Given the description of an element on the screen output the (x, y) to click on. 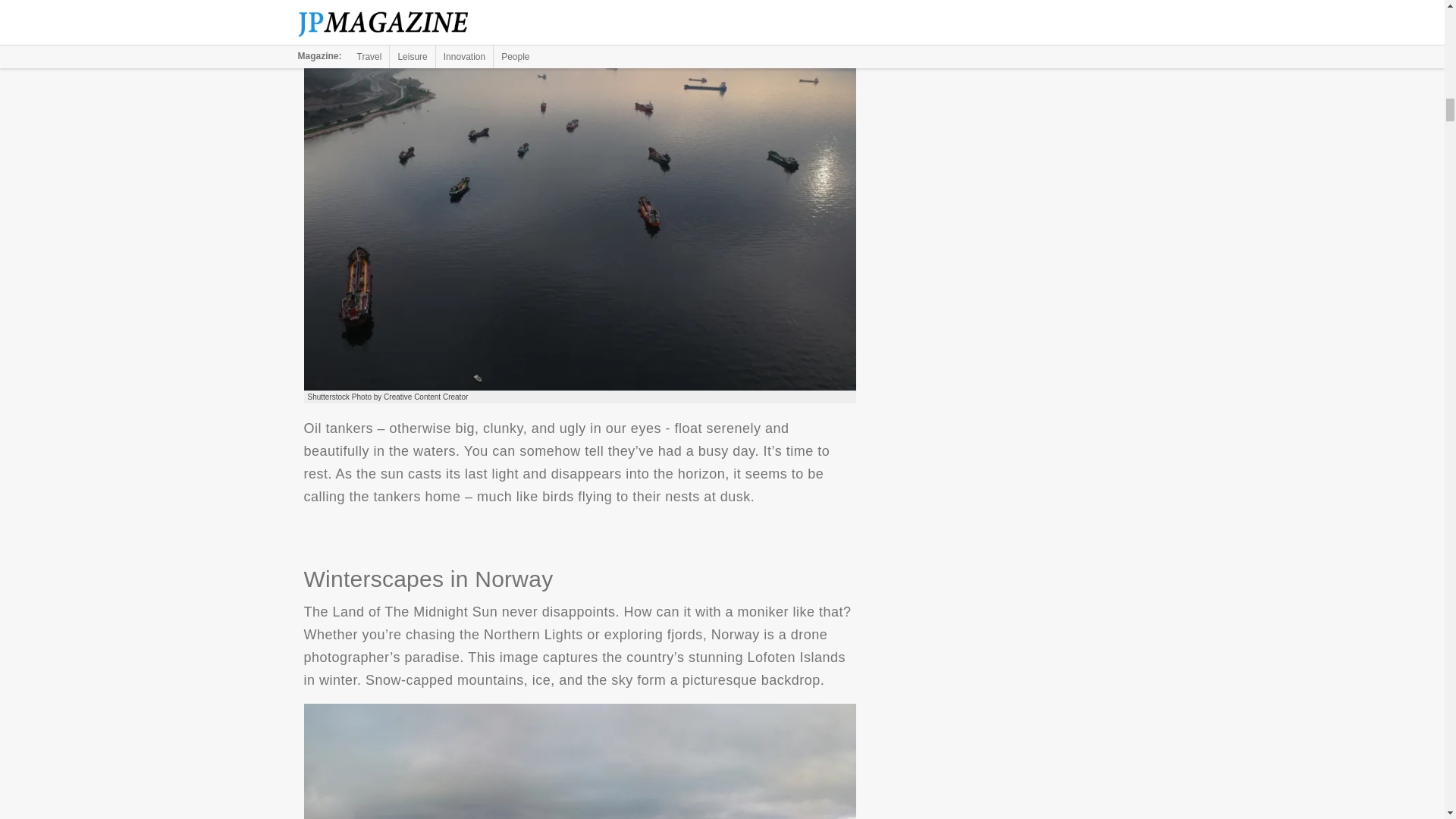
Winterscapes in Norway (579, 761)
